Given the description of an element on the screen output the (x, y) to click on. 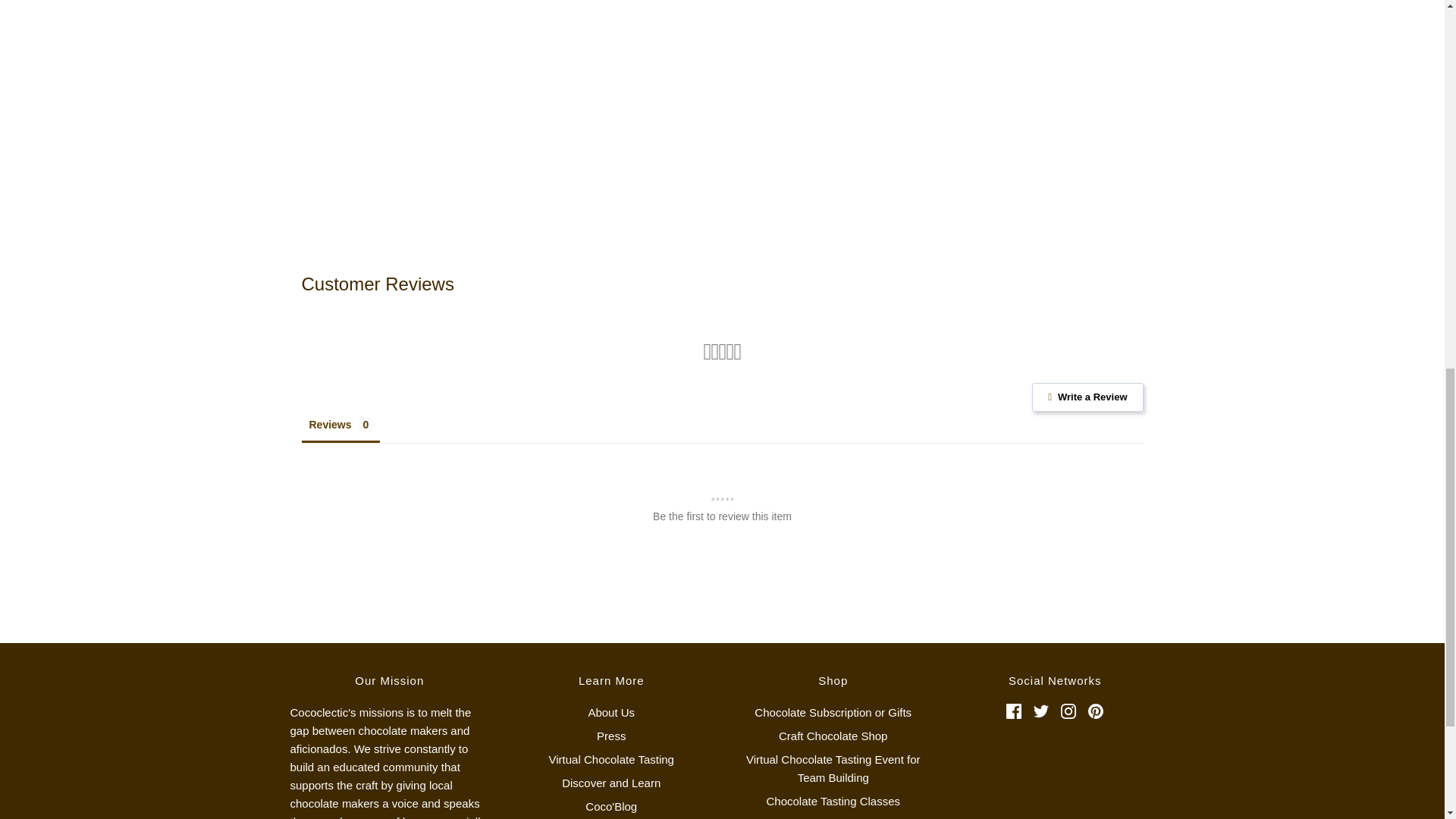
Twitter icon (1040, 711)
Instagram icon (1068, 711)
About Us (611, 715)
Pinterest icon (1095, 711)
Facebook icon (1014, 711)
